Given the description of an element on the screen output the (x, y) to click on. 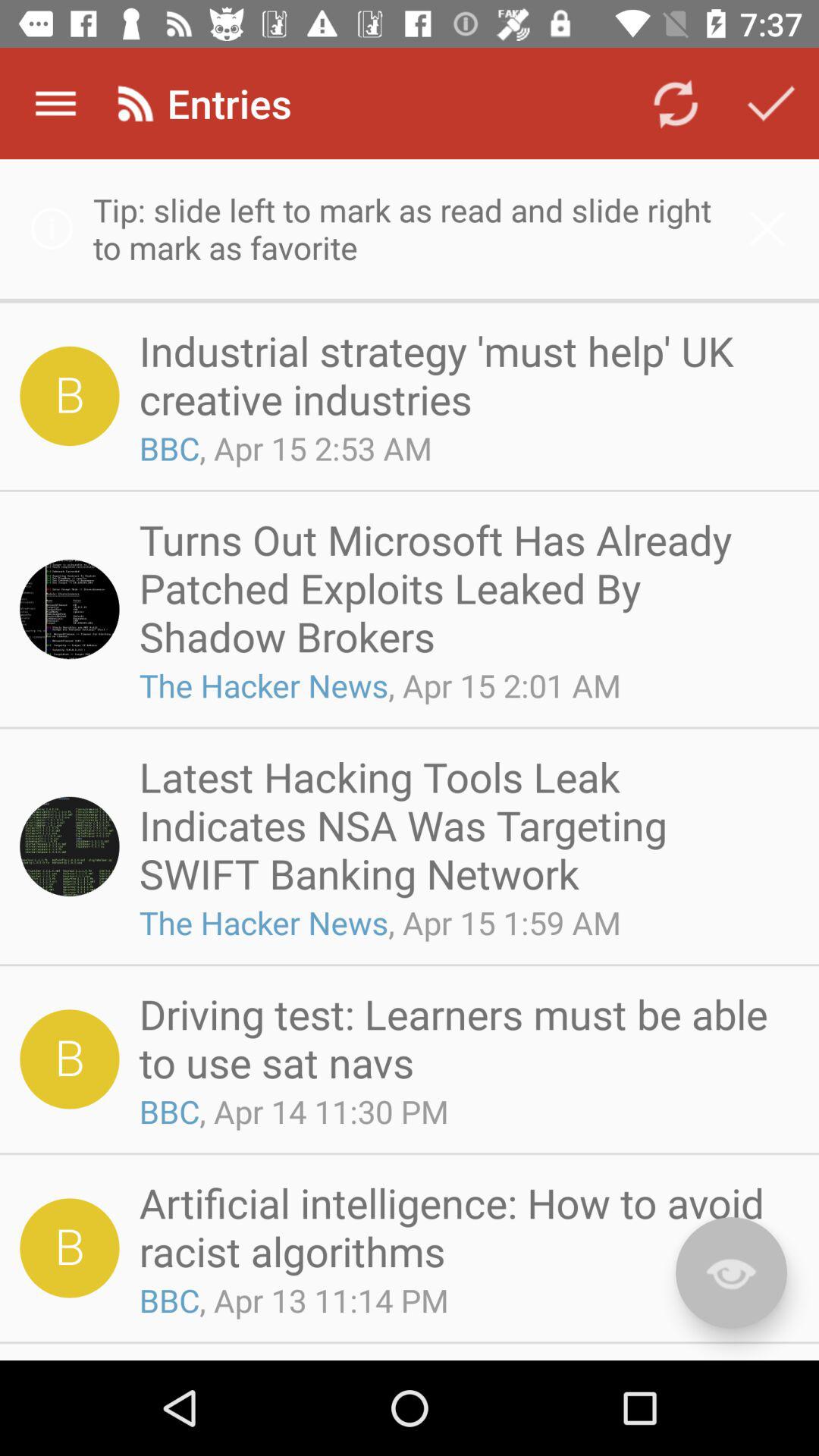
tap the icon below bbc apr 15 app (463, 587)
